Given the description of an element on the screen output the (x, y) to click on. 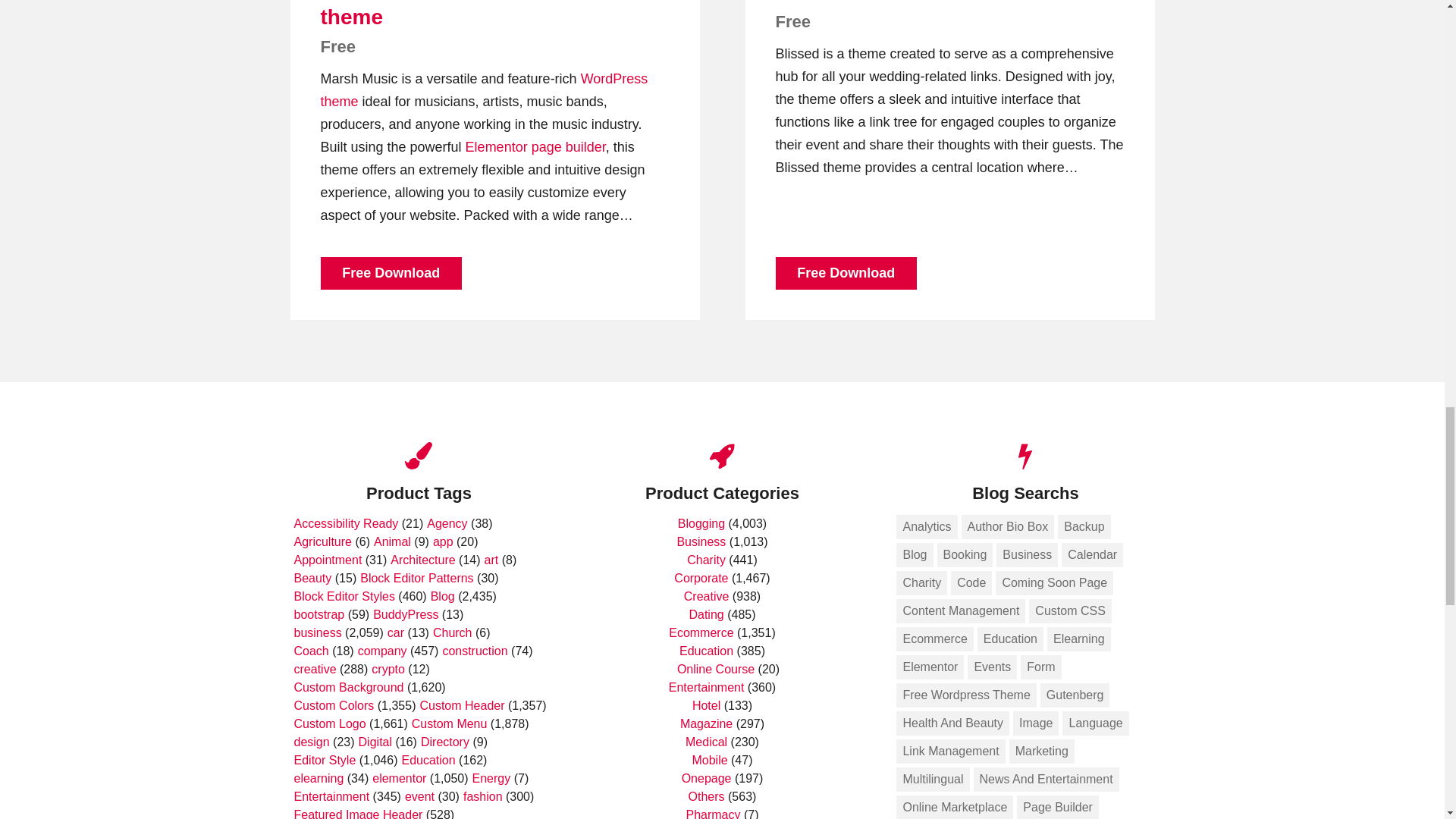
Get Elementor (496, 146)
Agency (446, 522)
Wordpress themes (483, 89)
page builder (568, 146)
Free Marsh Music WordPress theme (468, 14)
Animal (392, 541)
Elementor (496, 146)
app (442, 541)
Accessibility Ready (346, 522)
